Given the description of an element on the screen output the (x, y) to click on. 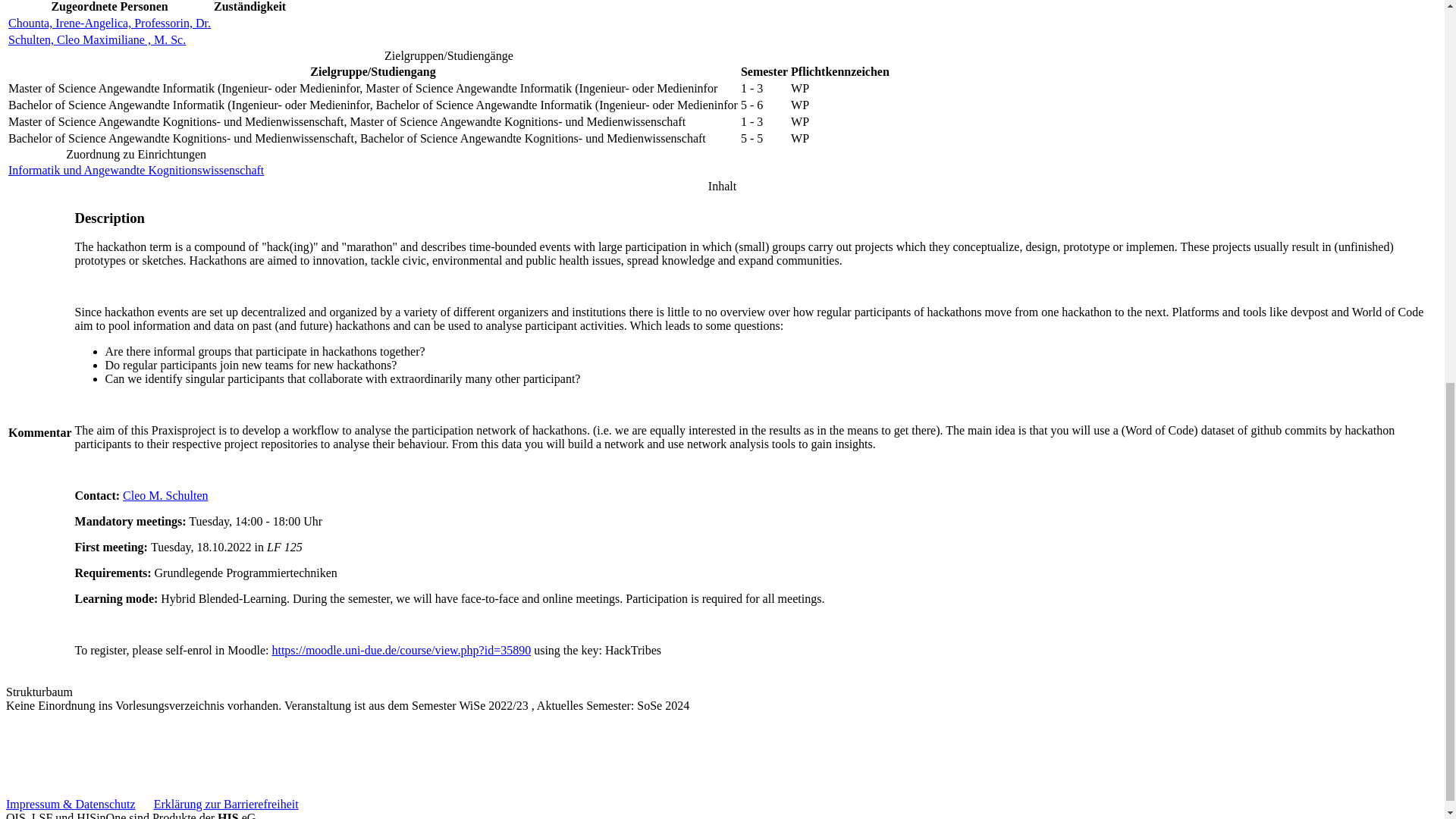
Informatik und Angewandte Kognitionswissenschaft (135, 169)
Chounta, Irene-Angelica, Professorin, Dr. (109, 22)
Cleo M. Schulten (165, 495)
Schulten, Cleo Maximiliane , M. Sc. (97, 39)
